Given the description of an element on the screen output the (x, y) to click on. 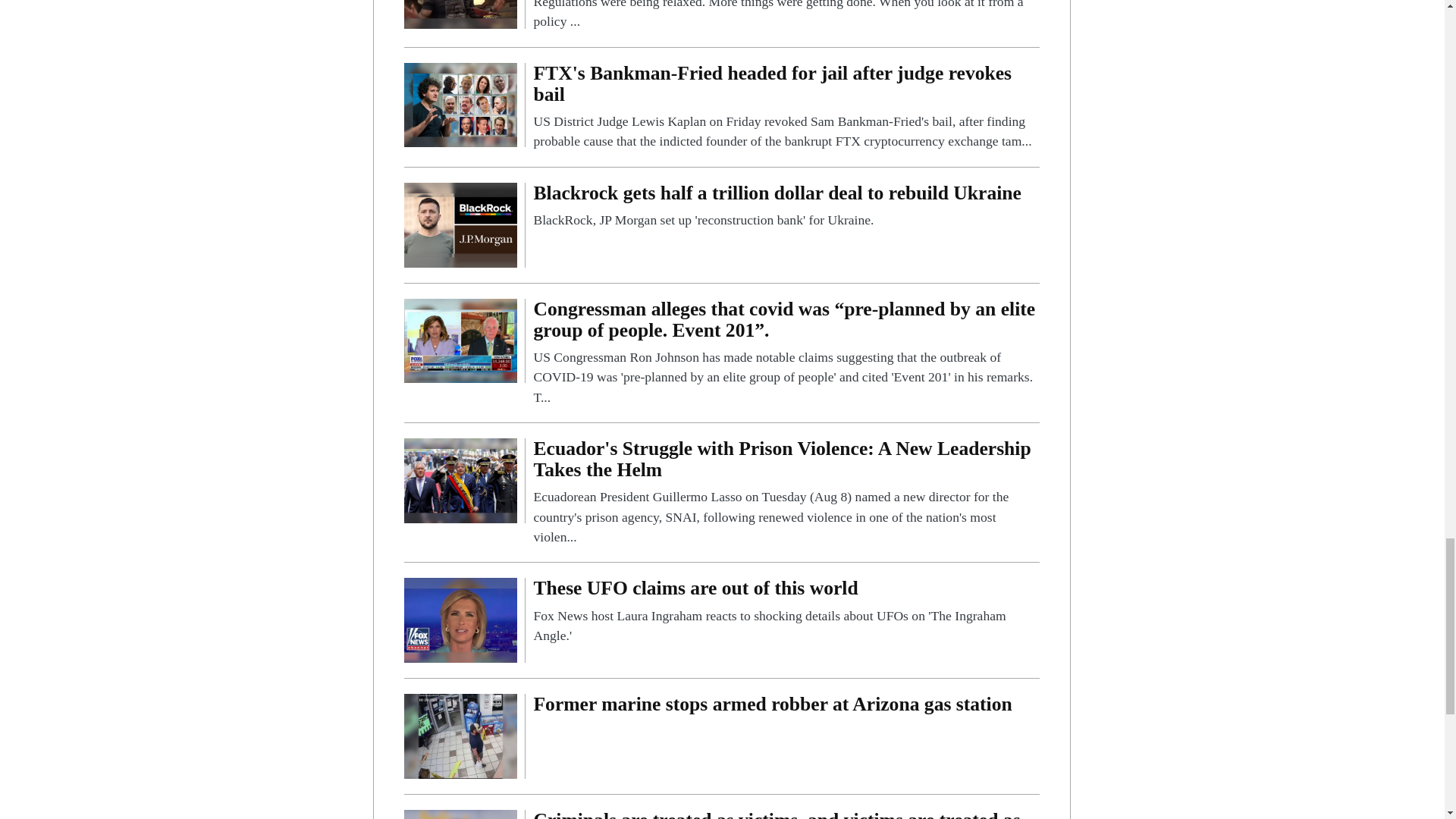
FTX's Bankman-Fried headed for jail after judge revokes bail (460, 103)
Former marine stops armed robber at Arizona gas station (785, 707)
These UFO claims are out of this world (785, 611)
FTX's Bankman-Fried headed for jail after judge revokes bail (785, 107)
